Given the description of an element on the screen output the (x, y) to click on. 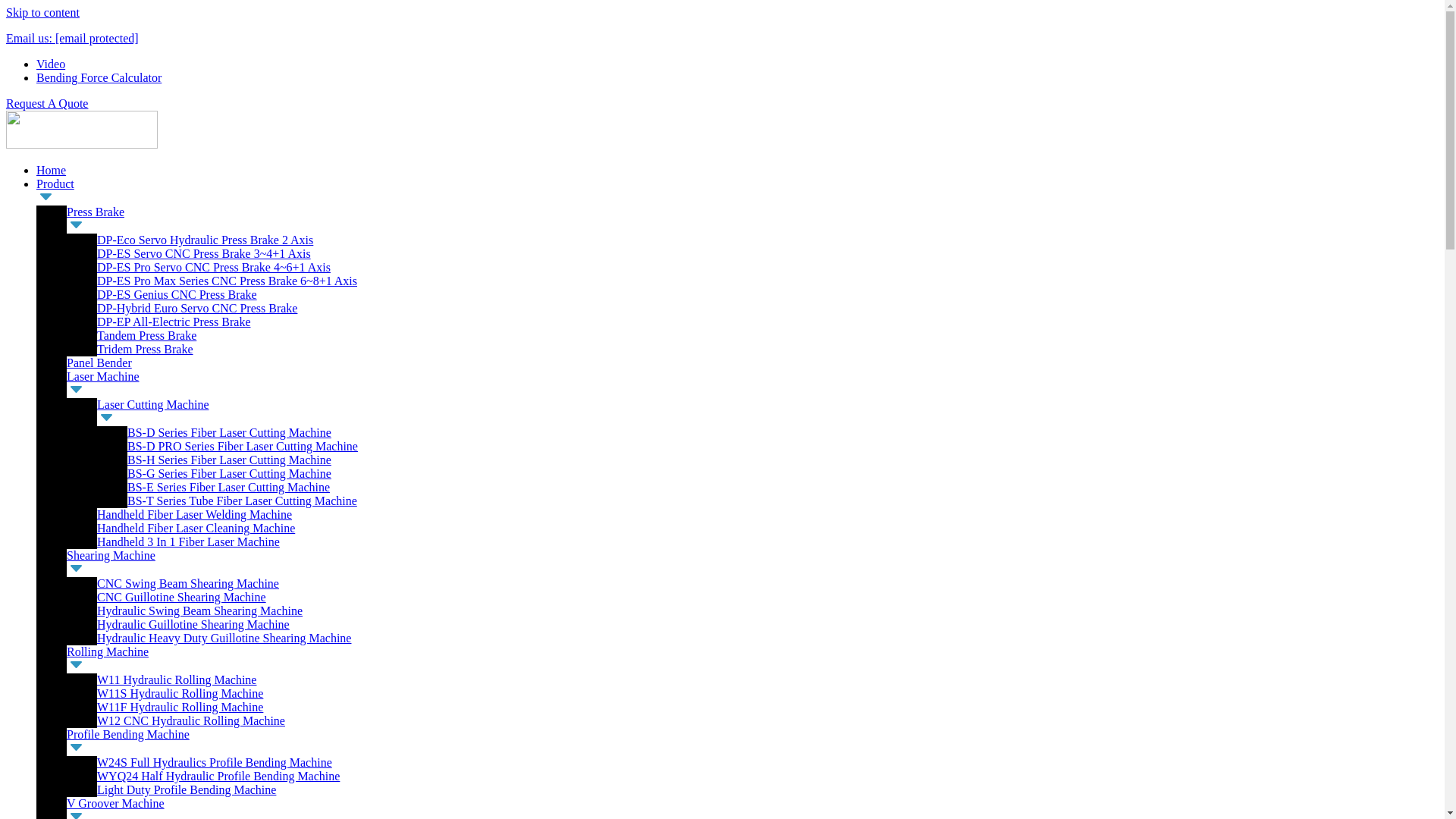
W11 Hydraulic Rolling Machine (176, 679)
BS-D PRO Series Fiber Laser Cutting Machine (243, 445)
Skip to content (42, 11)
Hydraulic Guillotine Shearing Machine (193, 624)
BS-E Series Fiber Laser Cutting Machine (229, 486)
BS-D Series Fiber Laser Cutting Machine (229, 431)
Shearing Machine (110, 554)
DP-EP All-Electric Press Brake (173, 321)
Rolling Machine (107, 651)
W11S Hydraulic Rolling Machine (180, 693)
